Given the description of an element on the screen output the (x, y) to click on. 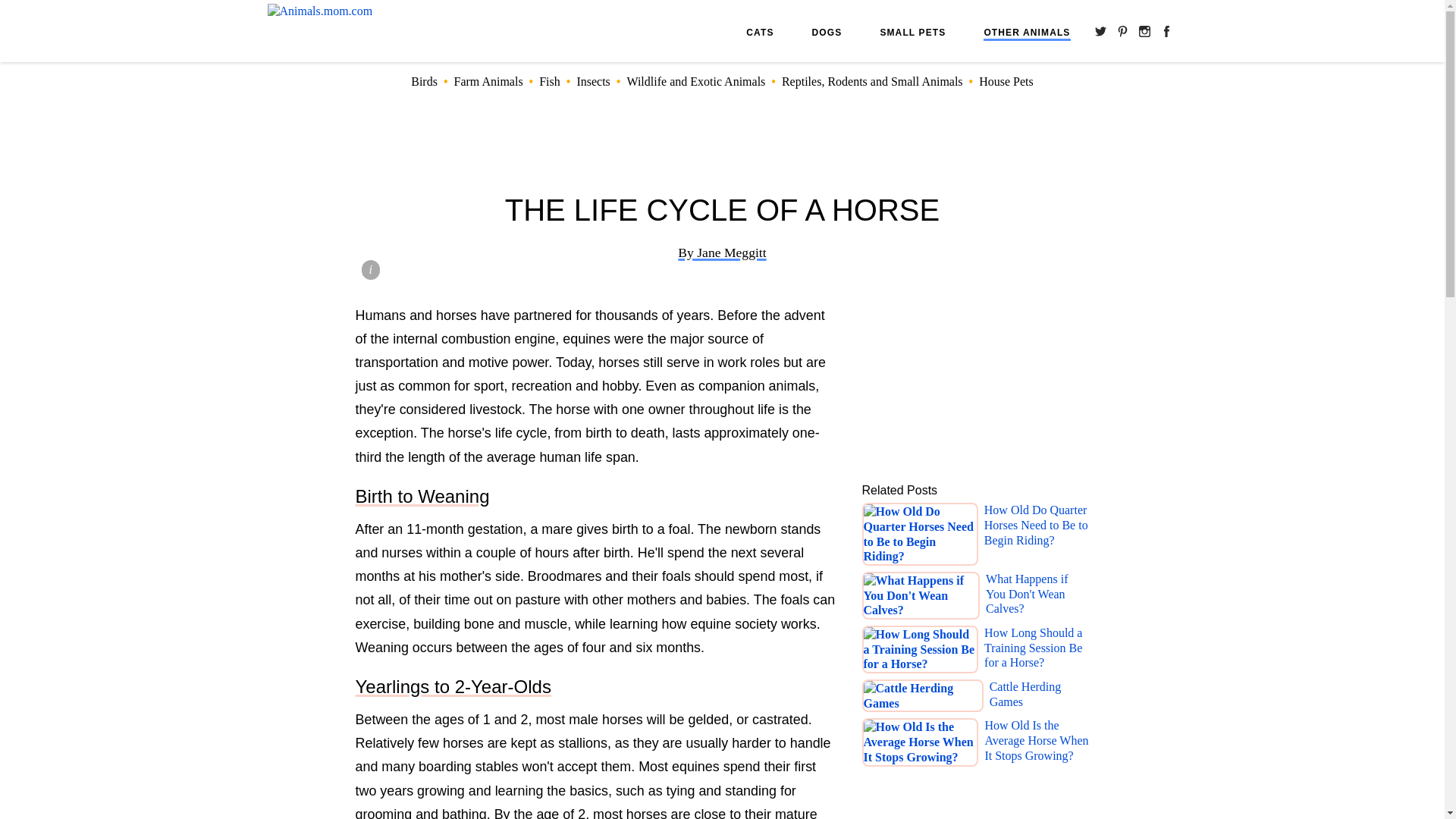
CATS (759, 32)
Fish (549, 81)
Reptiles, Rodents and Small Animals (871, 81)
Birds (424, 81)
Wildlife and Exotic Animals (695, 81)
Farm Animals (487, 81)
House Pets (1005, 81)
DOGS (827, 32)
SMALL PETS (911, 32)
Insects (593, 81)
OTHER ANIMALS (1027, 33)
